Given the description of an element on the screen output the (x, y) to click on. 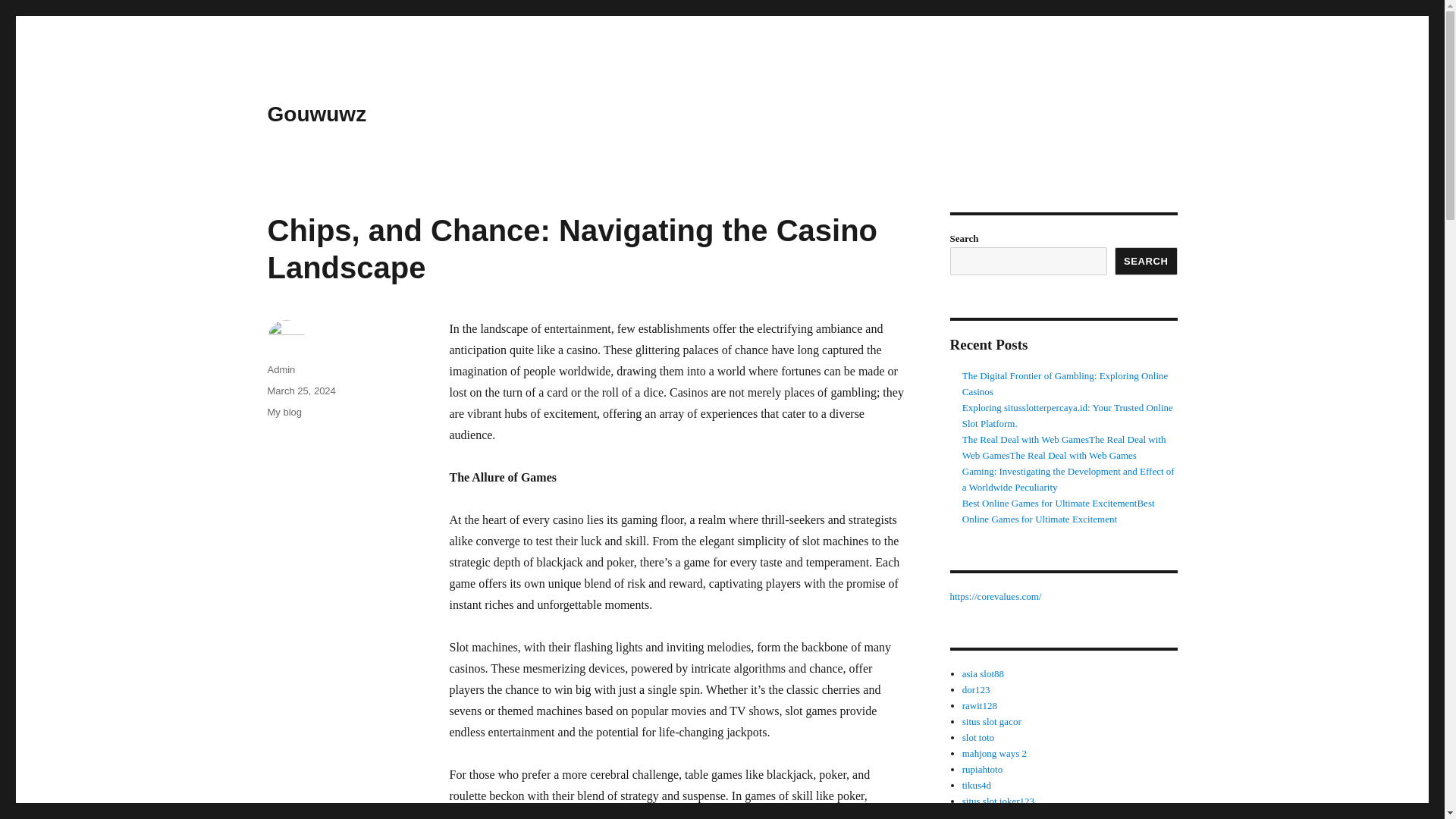
Gouwuwz (316, 114)
The Digital Frontier of Gambling: Exploring Online Casinos (1065, 383)
rawit128 (979, 705)
March 25, 2024 (300, 390)
slot toto (978, 737)
ugasli login (985, 815)
situs slot joker123 (997, 800)
rupiahtoto (982, 768)
mahjong ways 2 (994, 753)
Admin (280, 369)
tikus4d (976, 785)
dor123 (976, 689)
